Given the description of an element on the screen output the (x, y) to click on. 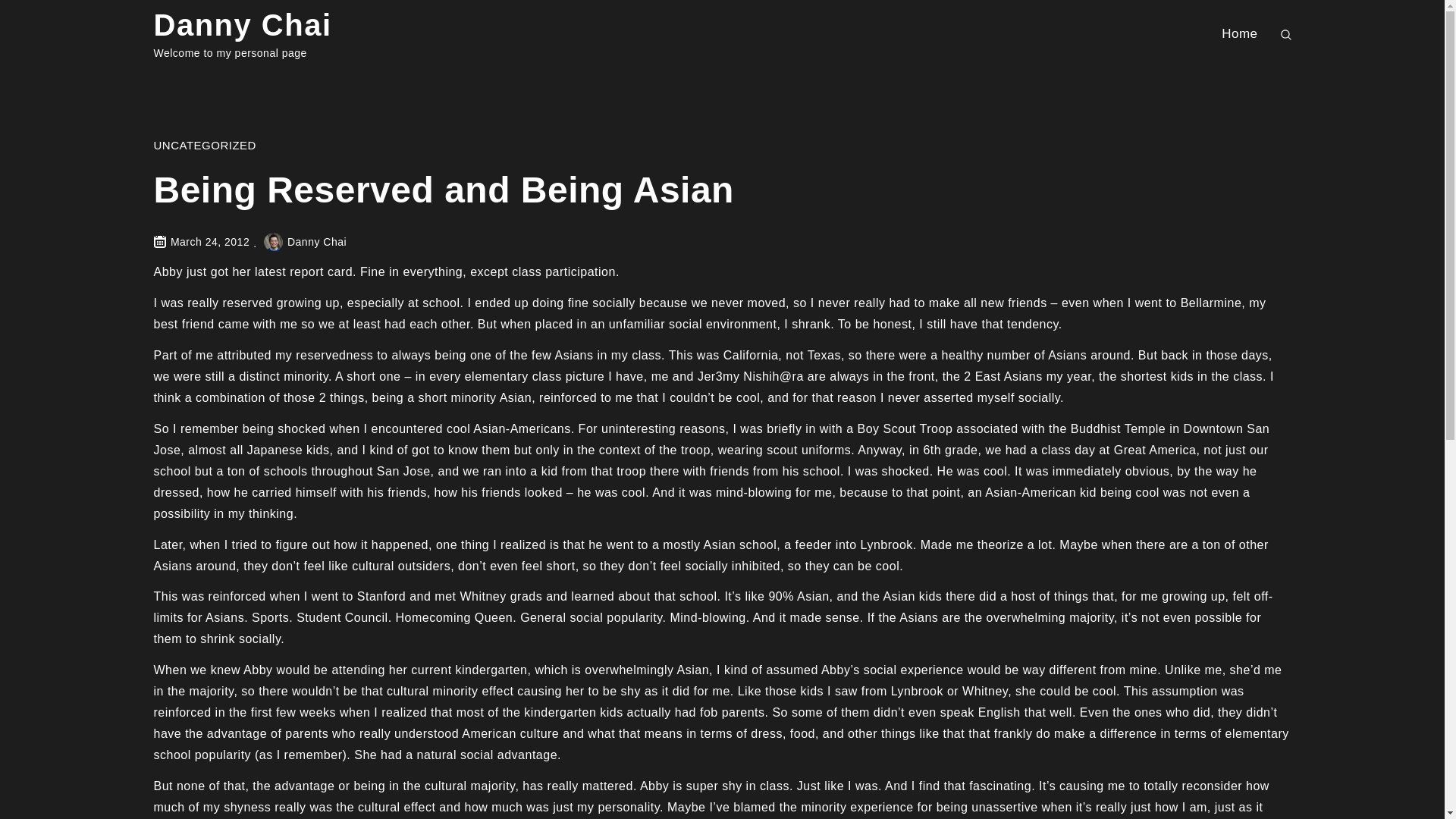
Danny Chai (304, 241)
Danny Chai (241, 24)
March 24, 2012 (209, 241)
Home (1239, 33)
UNCATEGORIZED (204, 144)
